Given the description of an element on the screen output the (x, y) to click on. 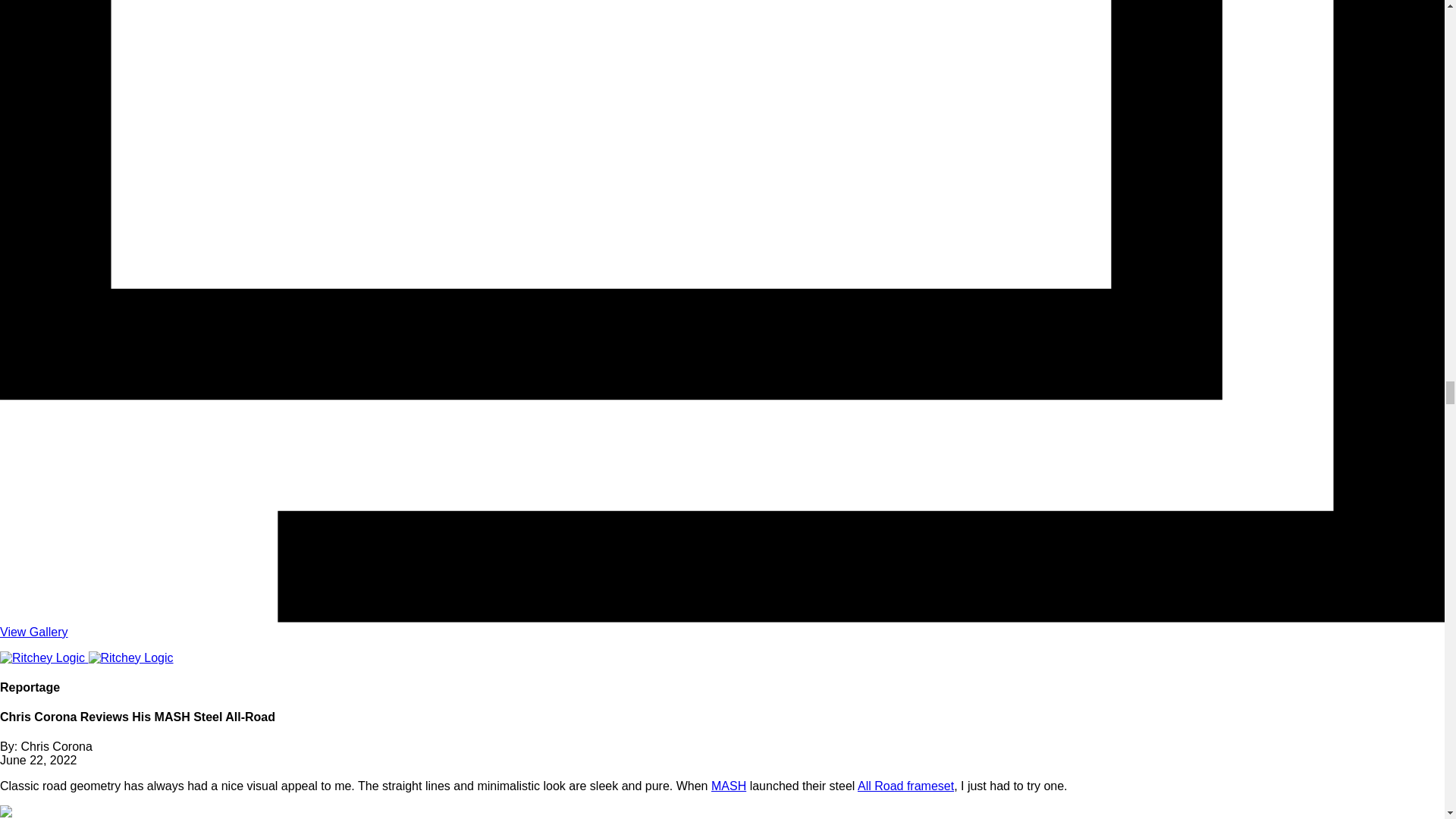
sticky tall (130, 657)
sticky tall (44, 657)
